Given the description of an element on the screen output the (x, y) to click on. 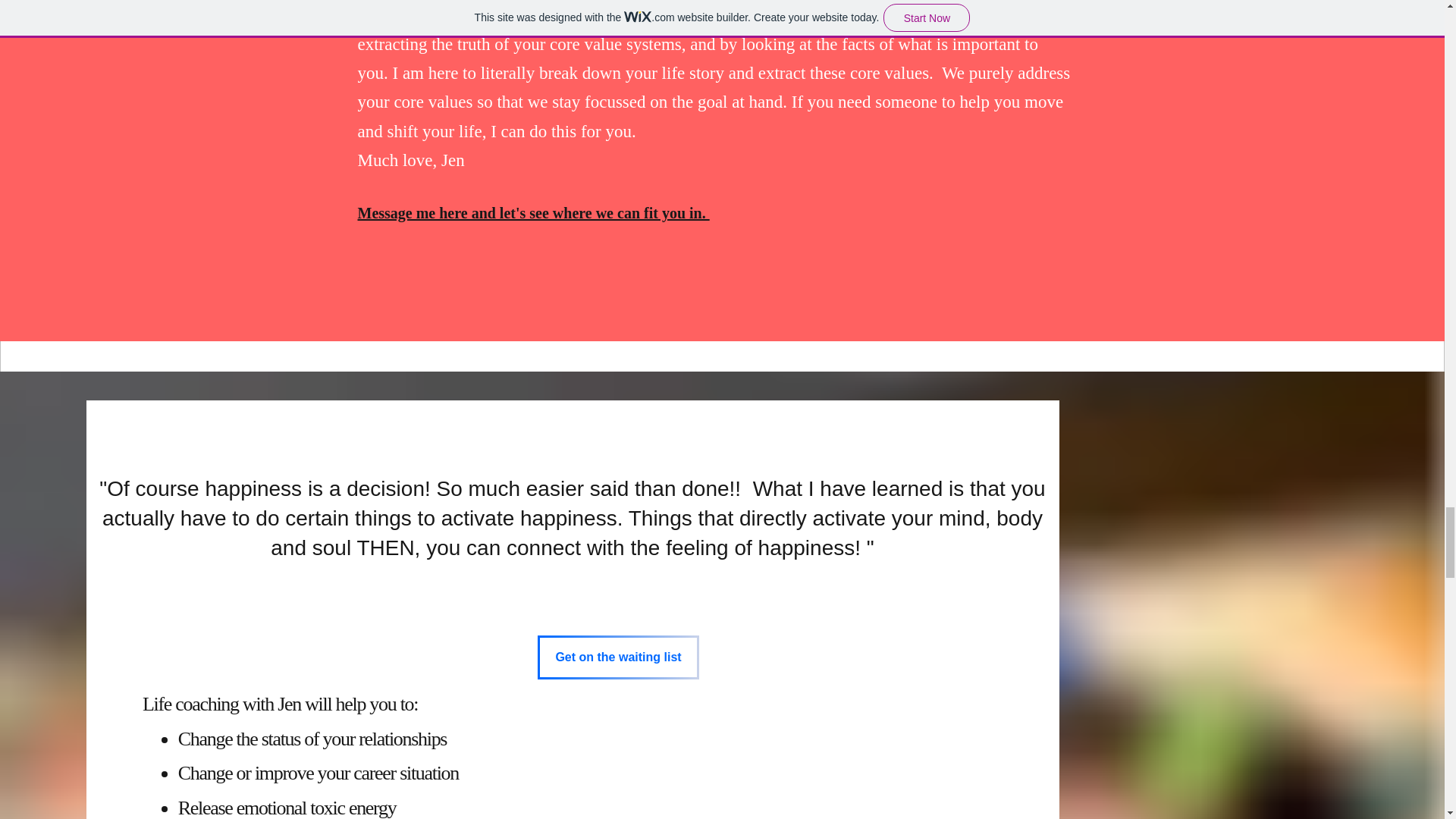
Message me here and let's see where we can fit you in.  (534, 212)
Get on the waiting list (617, 657)
